Given the description of an element on the screen output the (x, y) to click on. 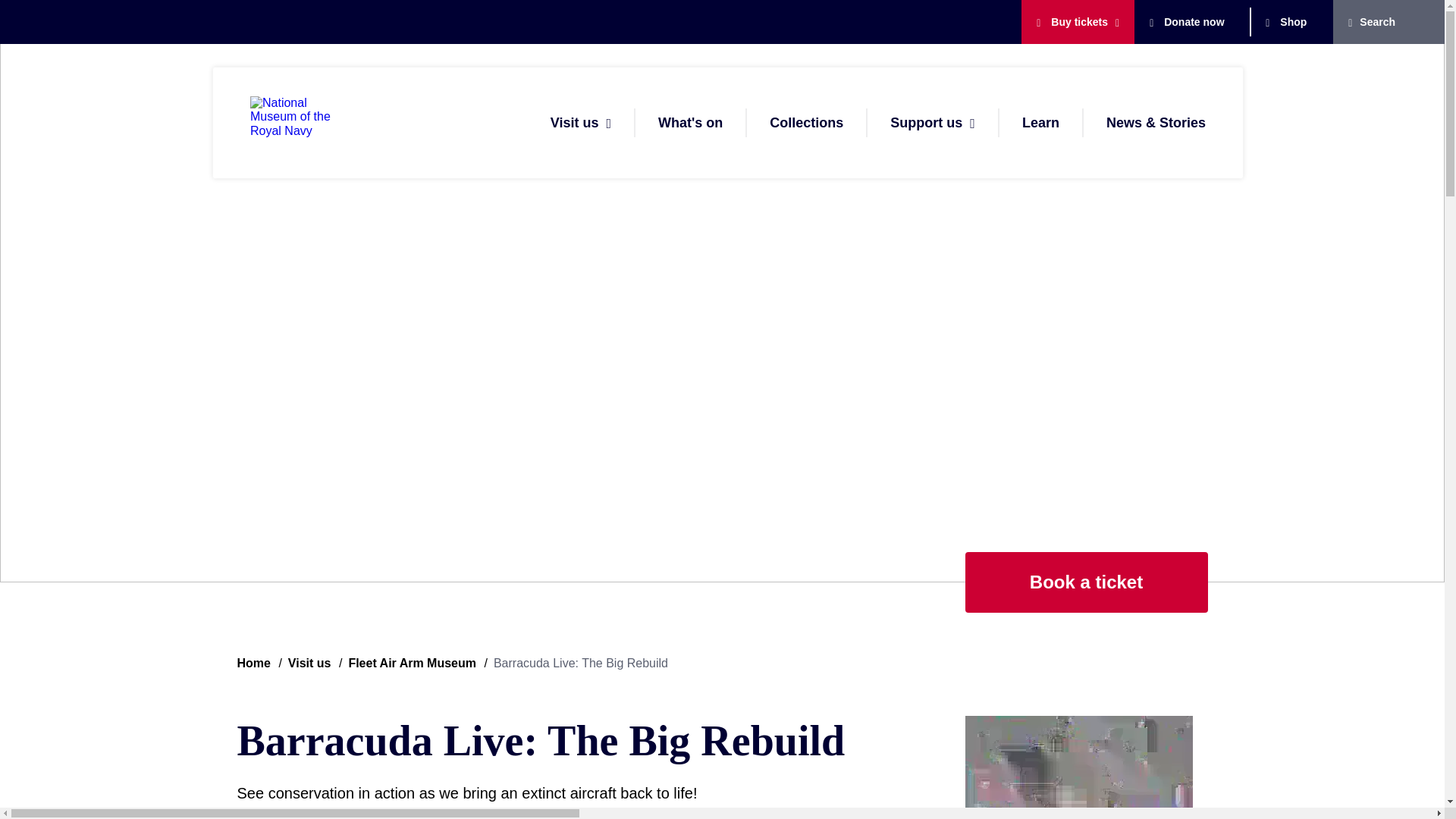
Visit us (574, 122)
Collections (806, 122)
What's on (690, 122)
Home (302, 122)
Buy tickets (1072, 21)
